Given the description of an element on the screen output the (x, y) to click on. 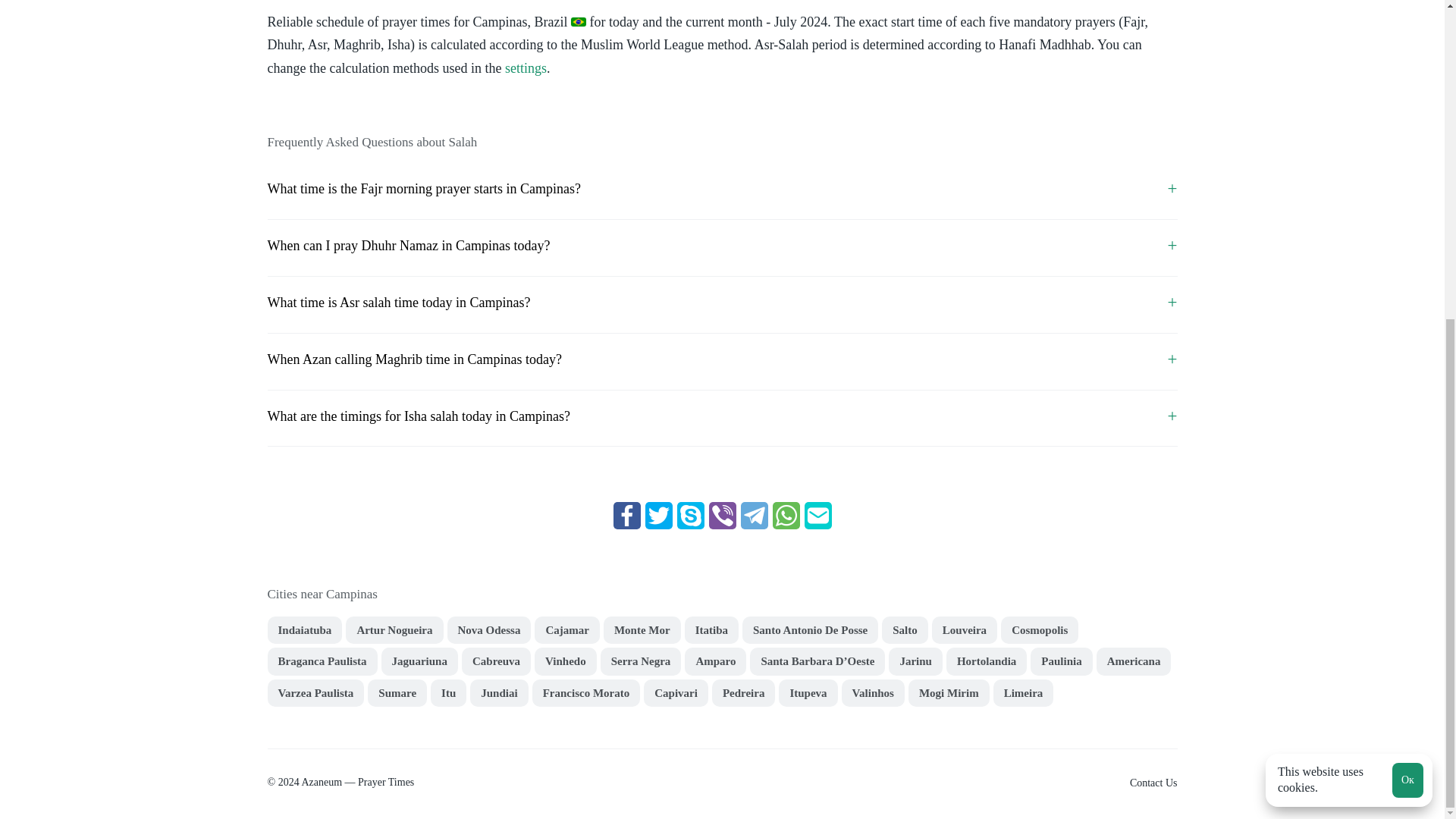
Viber (721, 515)
Prayer Times in Salto (905, 630)
Prayer Times in Indaiatuba (304, 630)
Telegram (753, 515)
Facebook (626, 515)
Prayer Times in Itatiba (711, 630)
Whatsapp (785, 515)
Prayer Times in Braganca Paulista (321, 661)
Prayer Times in Nova Odessa (488, 630)
Twitter (658, 515)
Prayer Times in Louveira (964, 630)
Prayer Times in Monte Mor (642, 630)
Email (817, 515)
Prayer Times in Artur Nogueira (394, 630)
Prayer Times in Cajamar (566, 630)
